Given the description of an element on the screen output the (x, y) to click on. 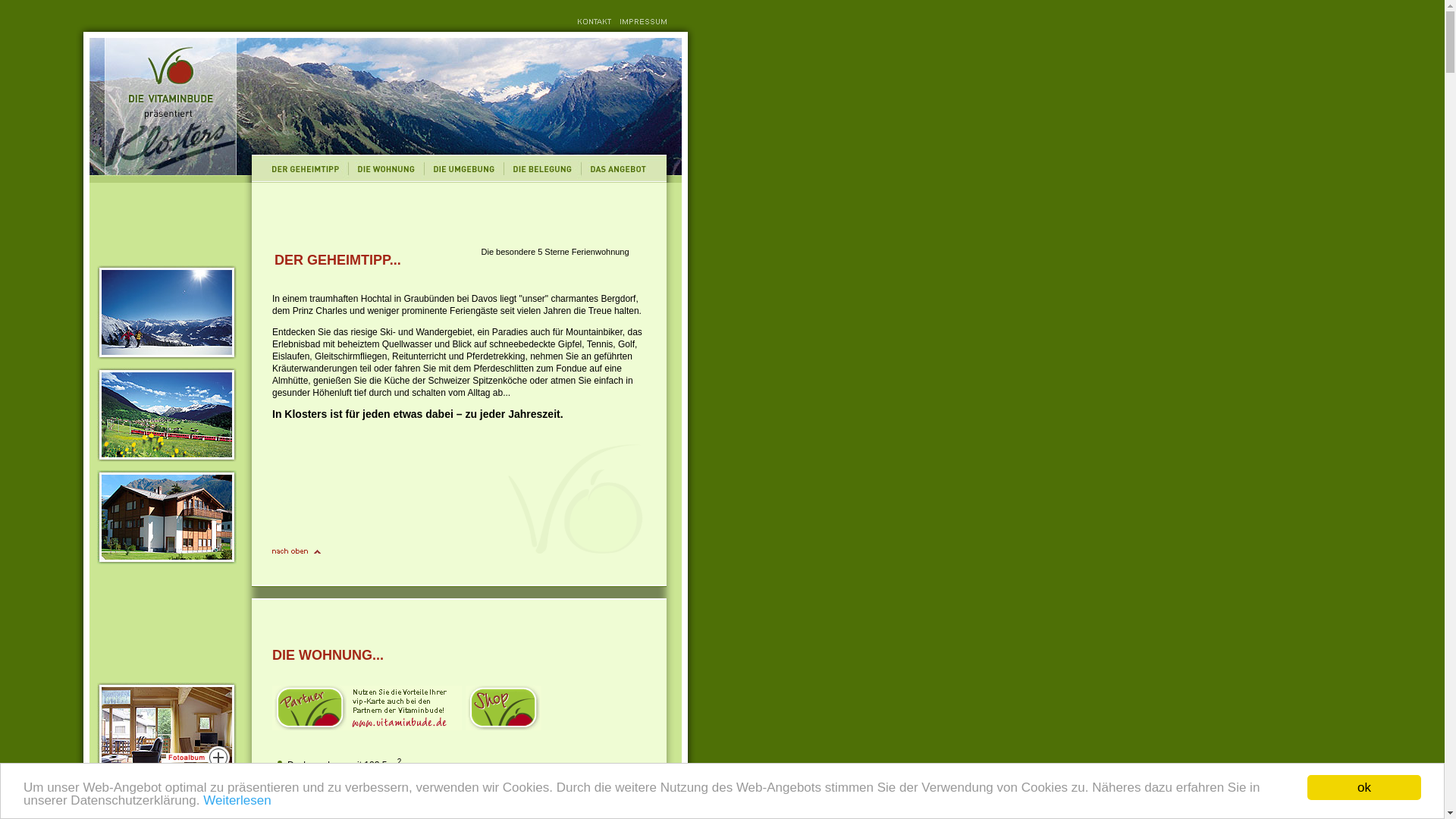
Weiterlesen Element type: text (236, 800)
ok Element type: text (1364, 787)
